Given the description of an element on the screen output the (x, y) to click on. 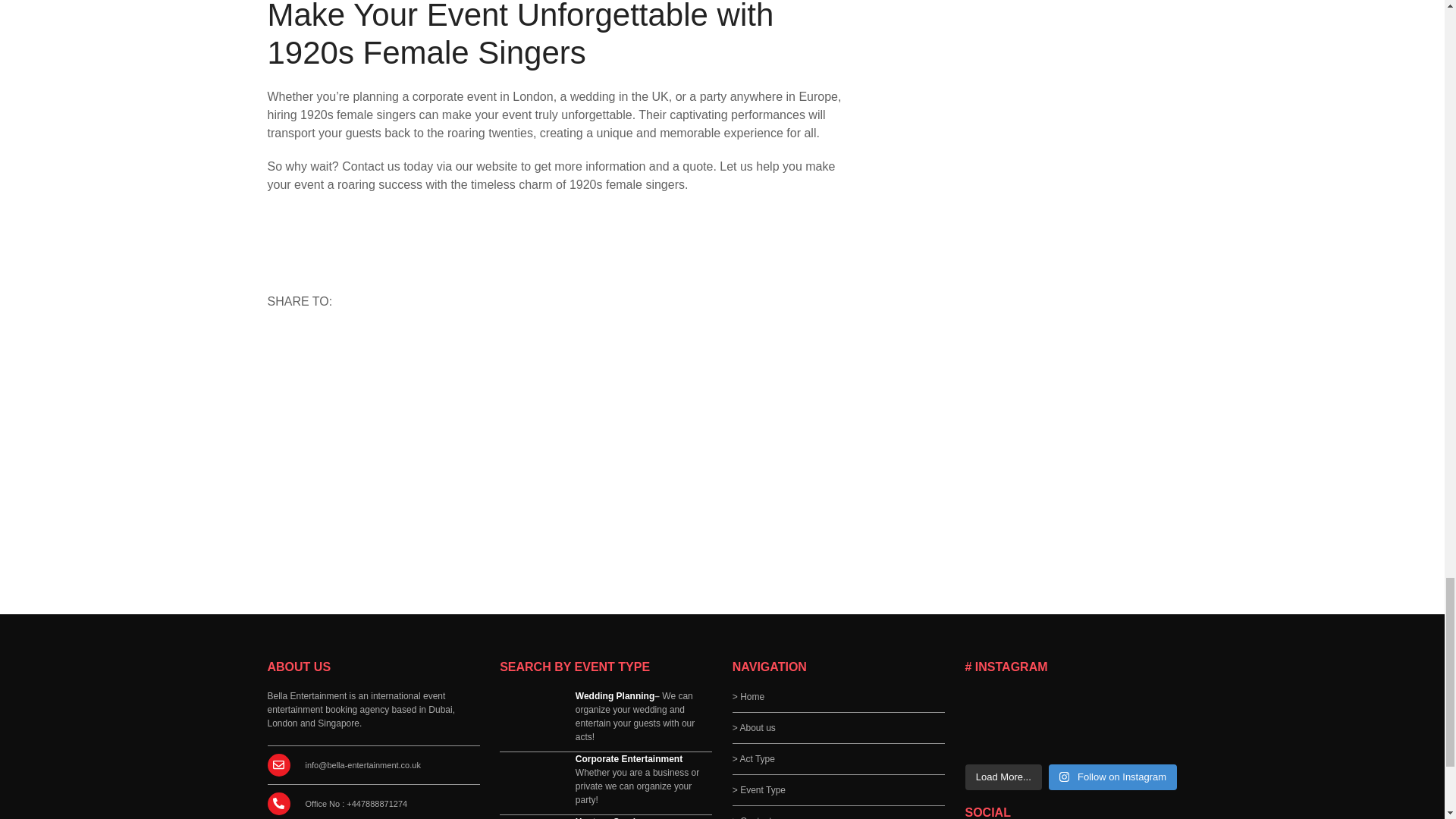
Facebook (352, 344)
RSS (284, 344)
Follow by Email (319, 344)
Twitter (387, 344)
